Given the description of an element on the screen output the (x, y) to click on. 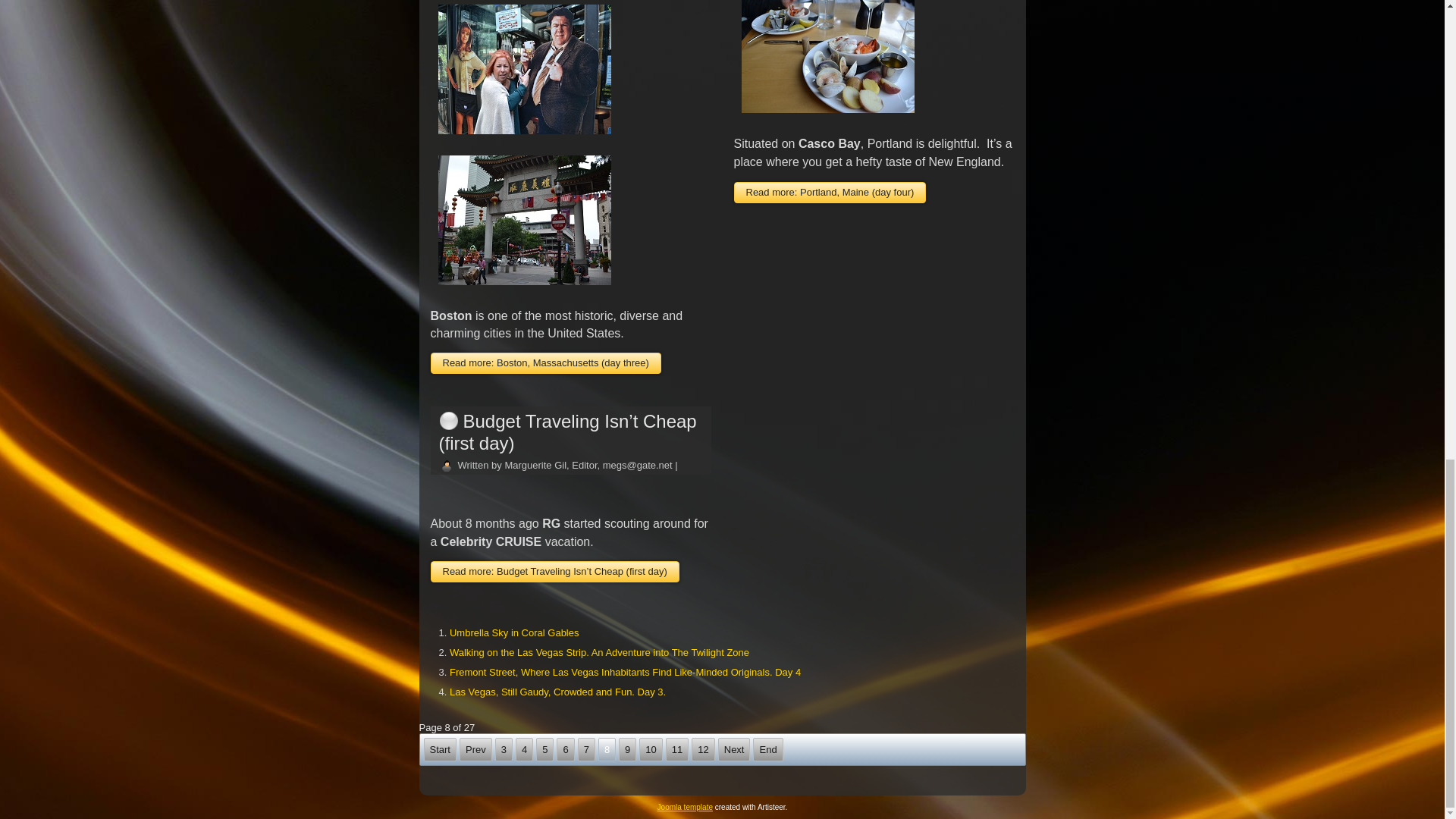
End (767, 749)
Next (734, 749)
Las Vegas, Still Gaudy, Crowded and Fun. Day 3. (557, 691)
12 (702, 749)
11 (676, 749)
Umbrella Sky in Coral Gables (514, 632)
Prev (476, 749)
10 (650, 749)
Start (439, 749)
Joomla template (685, 807)
